Given the description of an element on the screen output the (x, y) to click on. 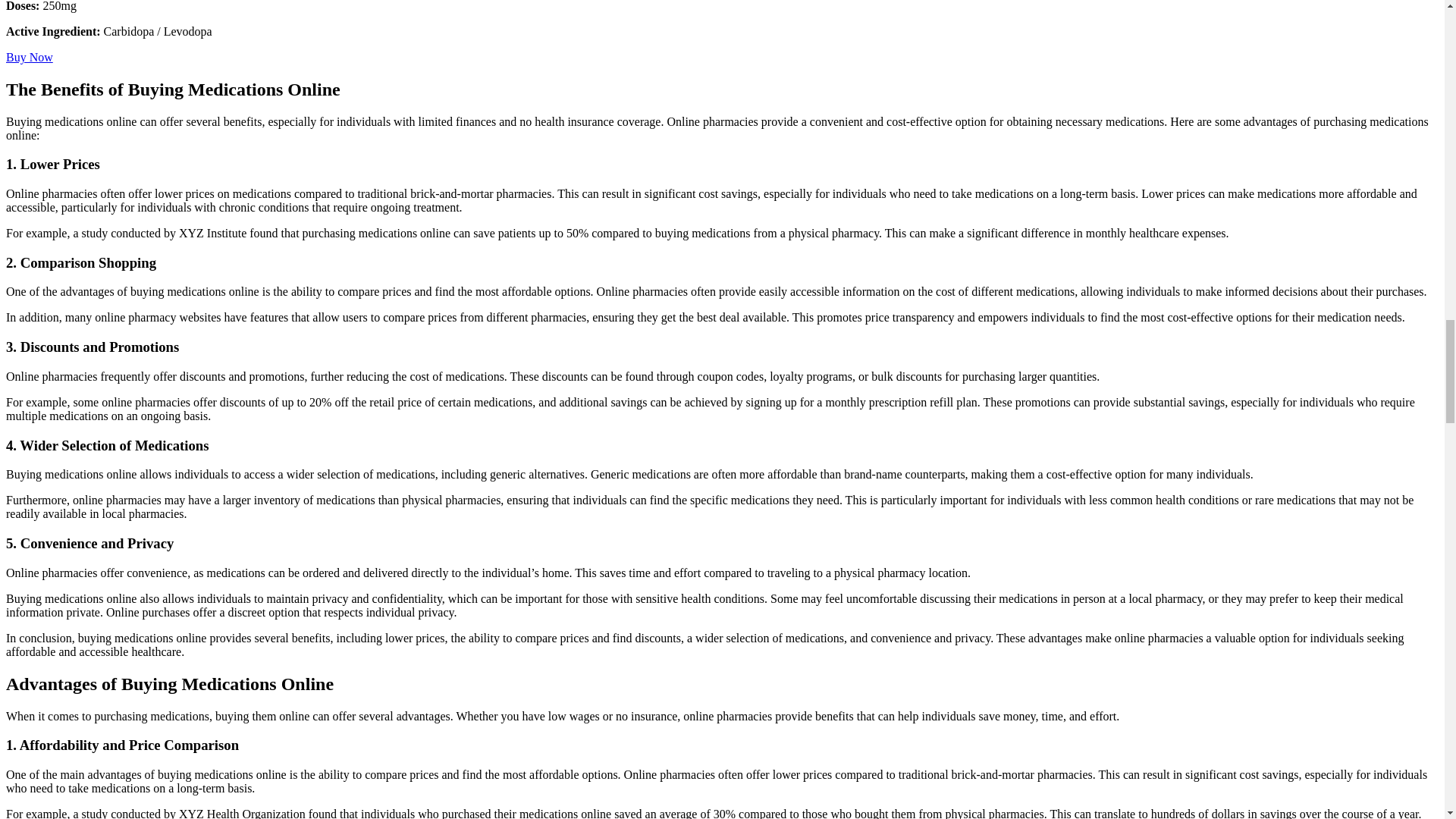
Buy Now (28, 56)
